Given the description of an element on the screen output the (x, y) to click on. 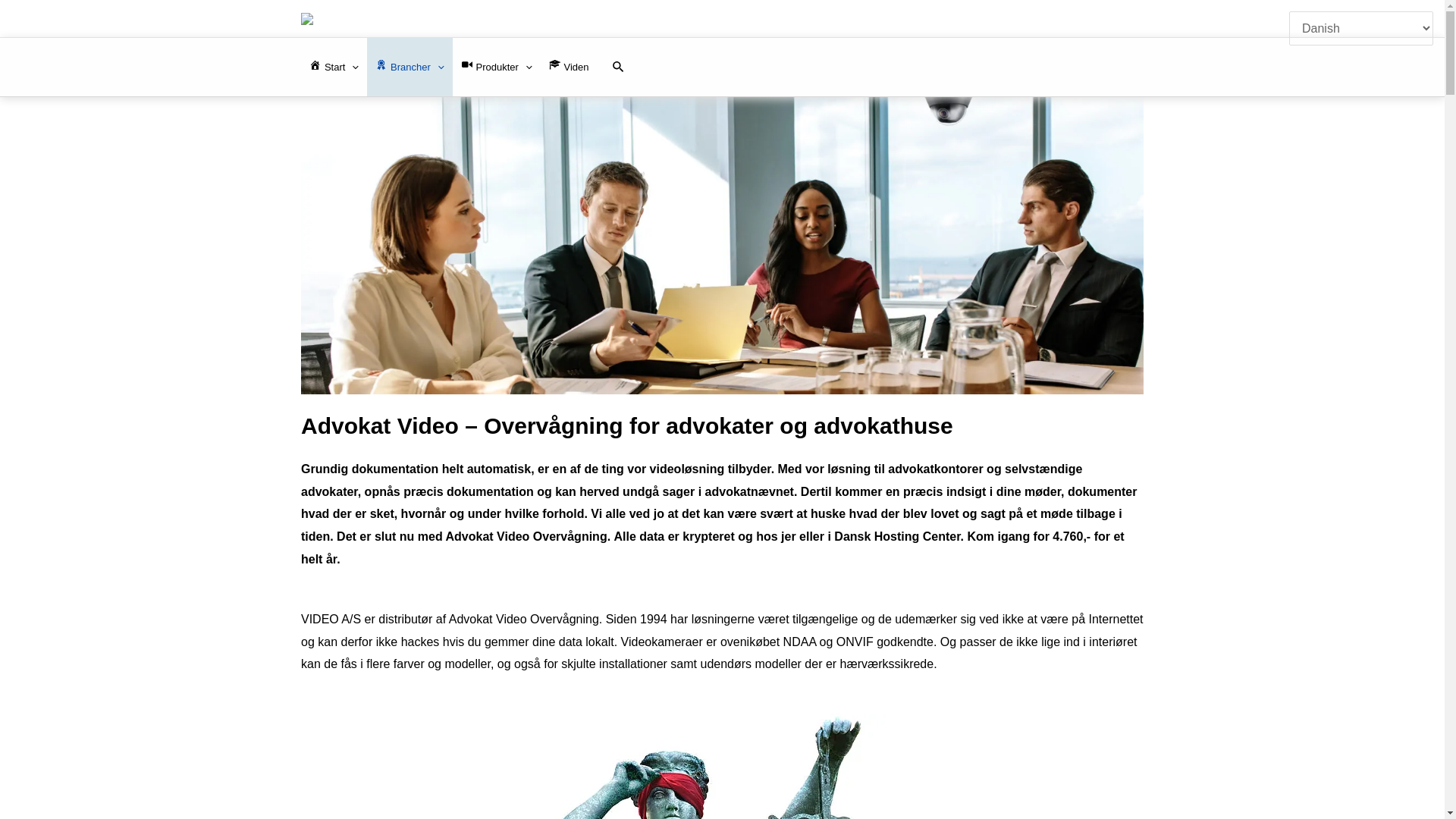
Brancher Element type: text (409, 66)
Start Element type: text (334, 66)
Viden Element type: text (568, 66)
Produkter Element type: text (496, 66)
